Given the description of an element on the screen output the (x, y) to click on. 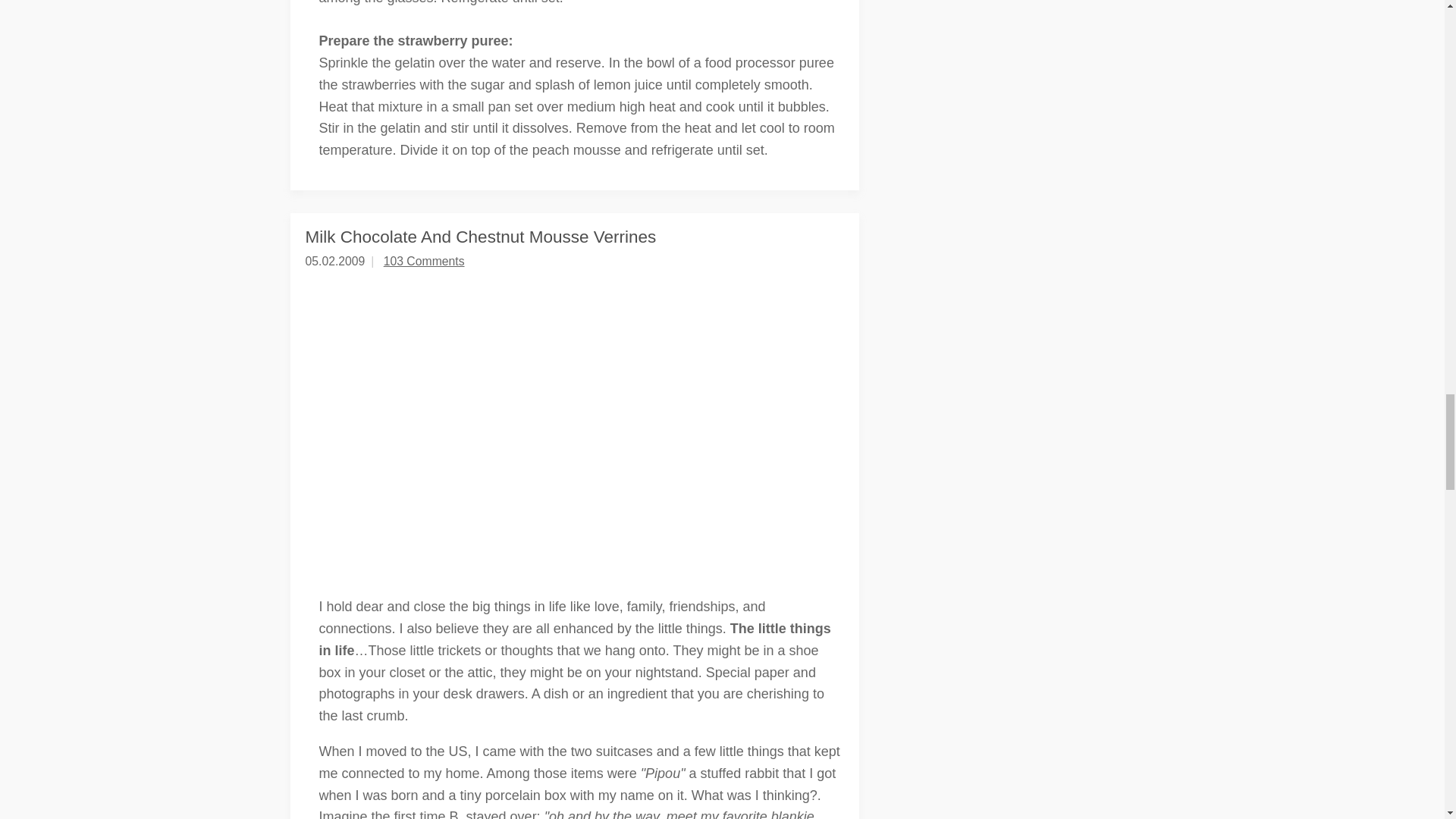
103 Comments (424, 260)
Milk Chocolate And Chestnut Mousse Verrines (480, 236)
Milk Chocolate And Chestnut Mousse Verrines (480, 236)
